Given the description of an element on the screen output the (x, y) to click on. 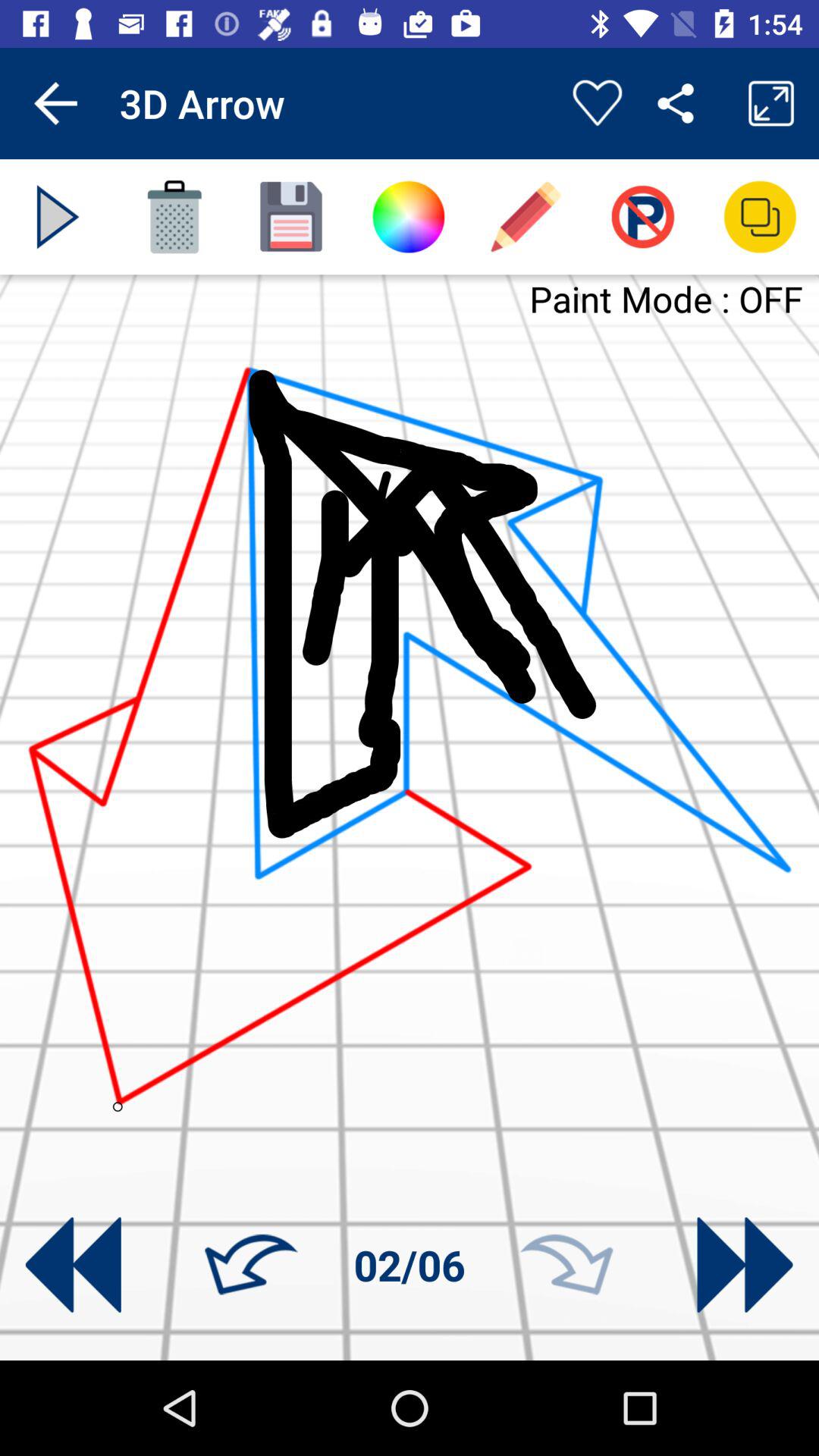
choose icon next to the 3d arrow (597, 102)
